Given the description of an element on the screen output the (x, y) to click on. 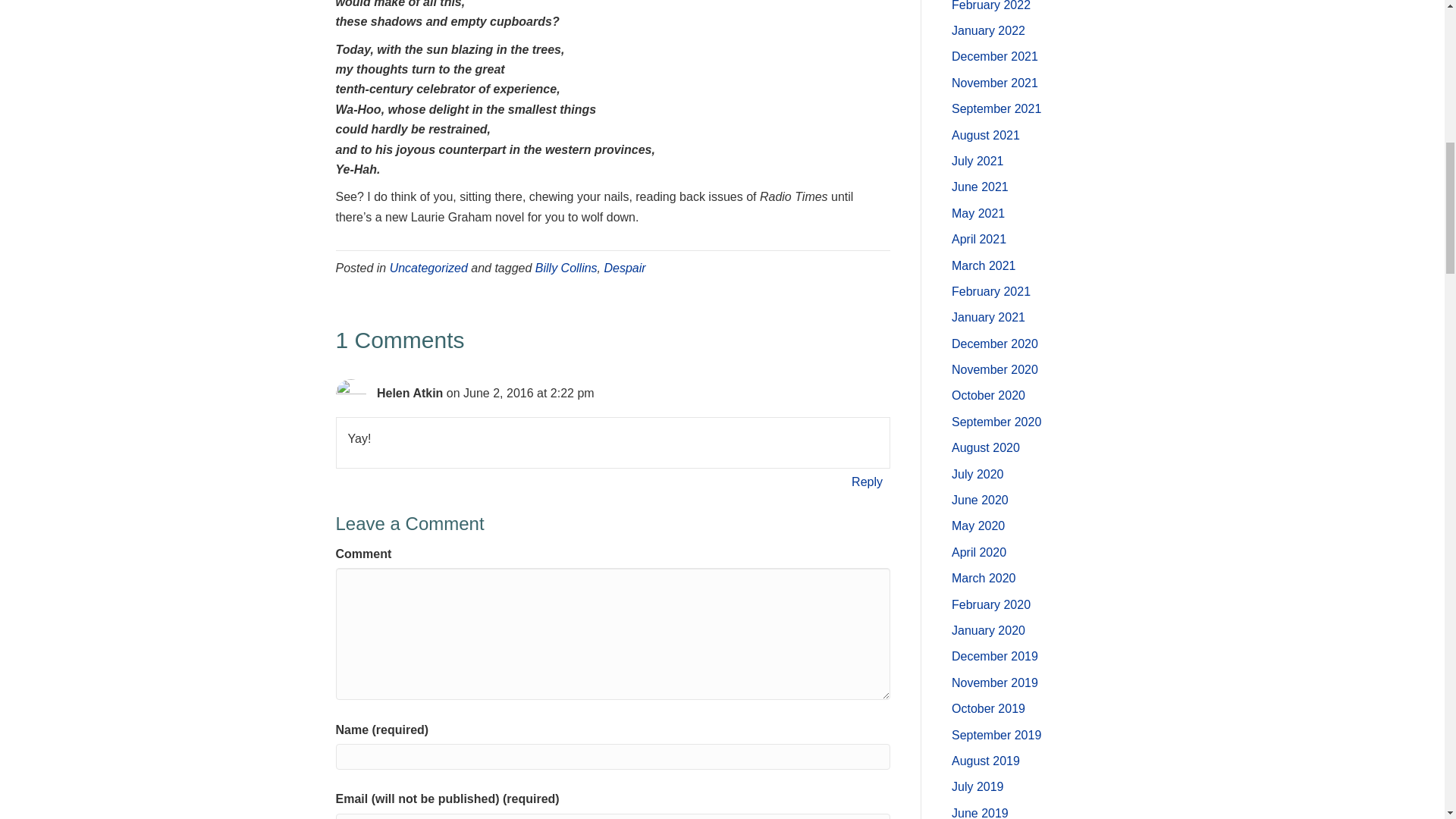
February 2022 (991, 5)
Reply (866, 481)
Billy Collins (565, 267)
Despair (624, 267)
Uncategorized (428, 267)
